Given the description of an element on the screen output the (x, y) to click on. 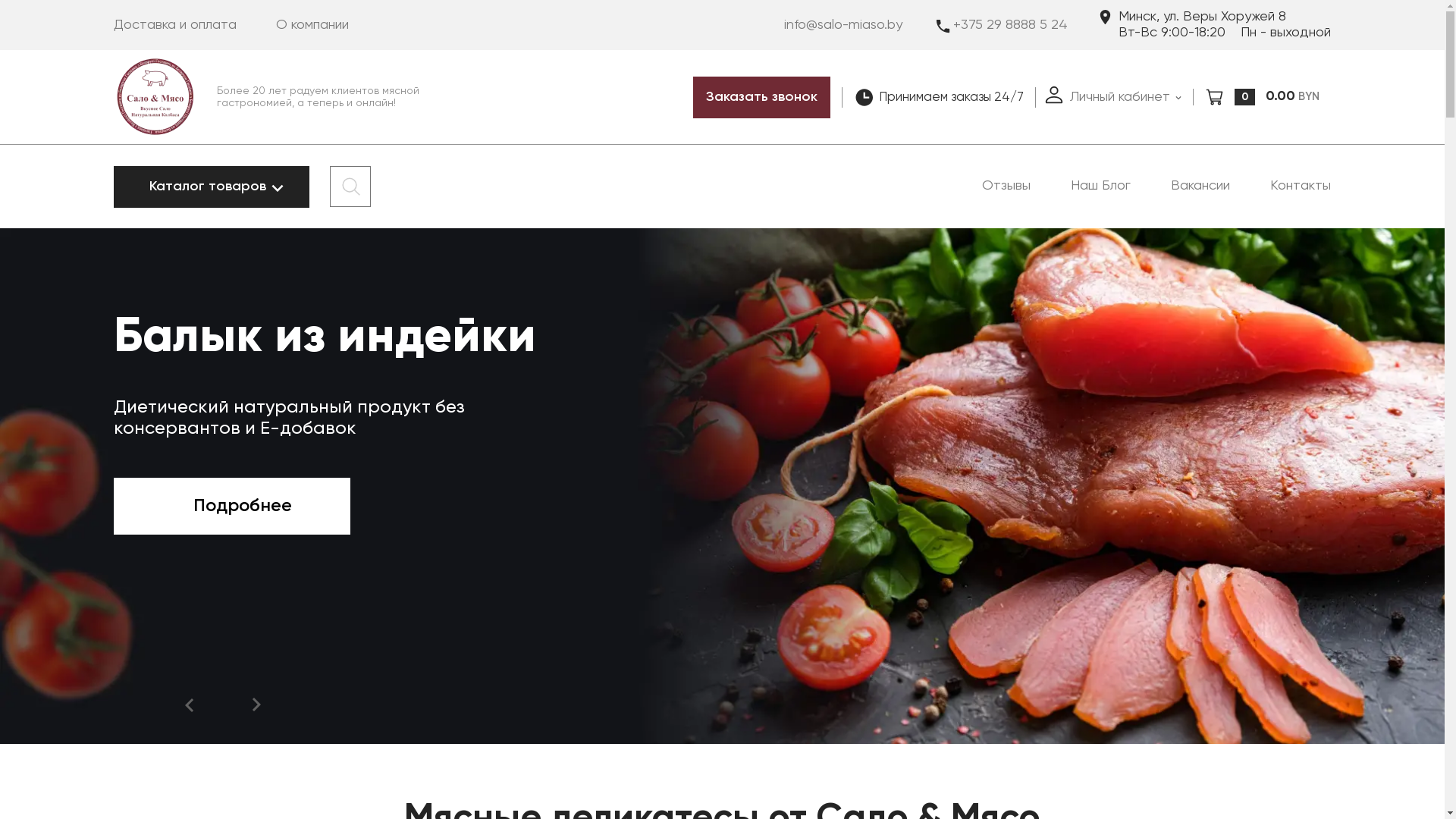
info@salo-miaso.by Element type: text (843, 24)
Previous Element type: text (188, 704)
0
0.00
BYN Element type: text (1261, 96)
Next Element type: text (255, 704)
+375 29 8888 5 24 Element type: text (1000, 24)
